Given the description of an element on the screen output the (x, y) to click on. 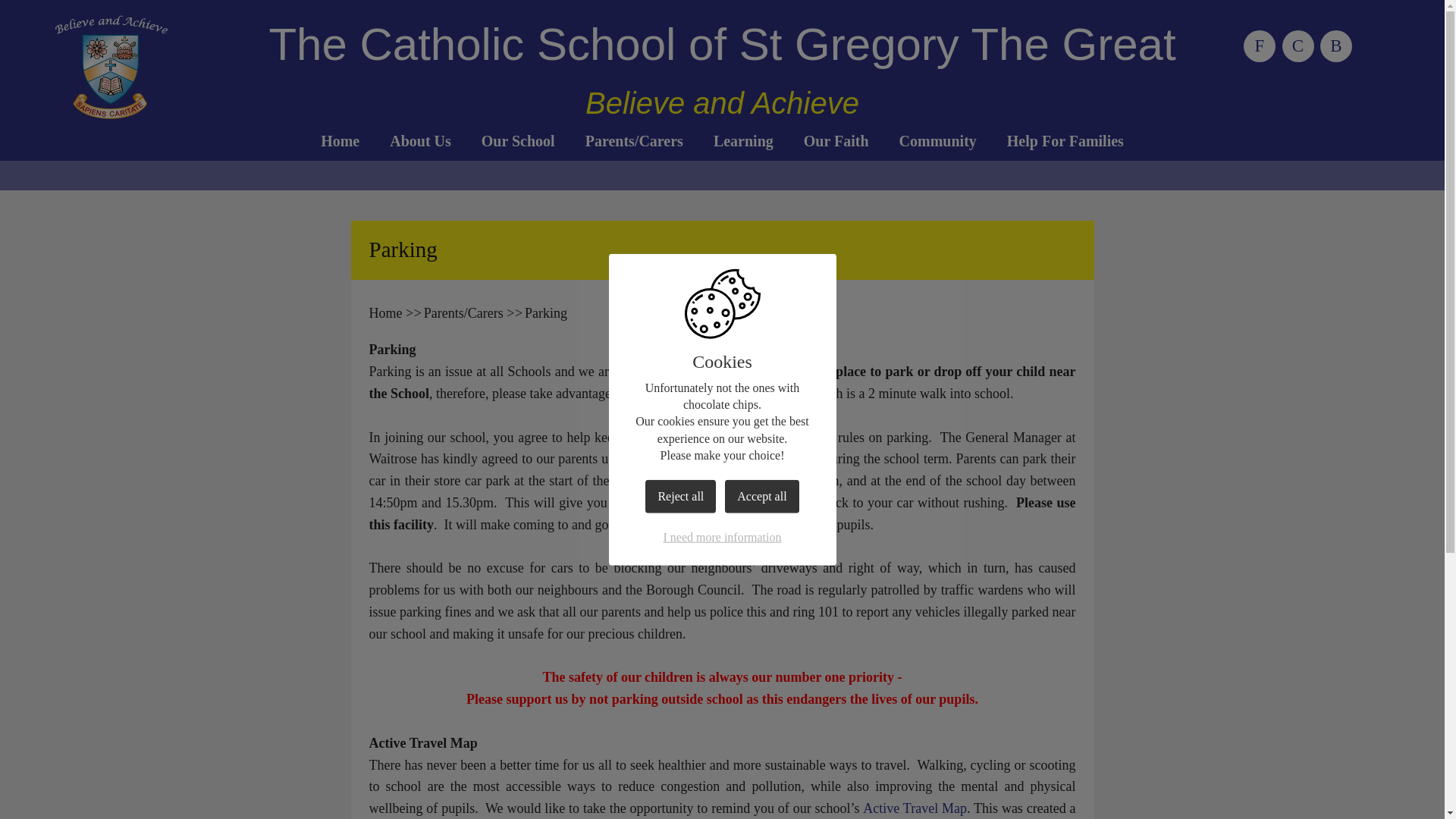
About Us (419, 140)
Home Page (111, 66)
Our School (517, 140)
Home (339, 140)
Log in (1336, 46)
